Given the description of an element on the screen output the (x, y) to click on. 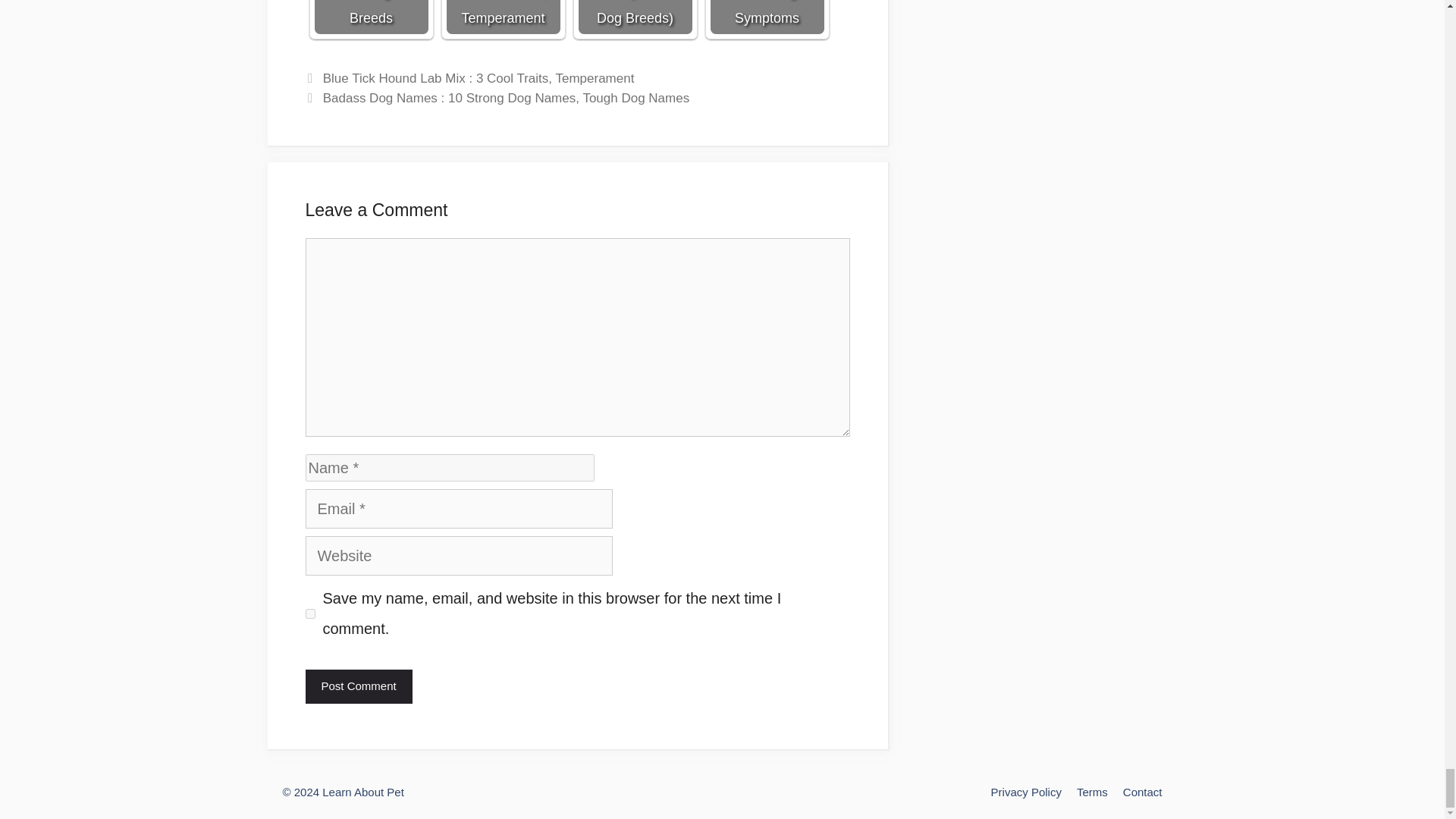
Post Comment (358, 686)
yes (309, 614)
